Given the description of an element on the screen output the (x, y) to click on. 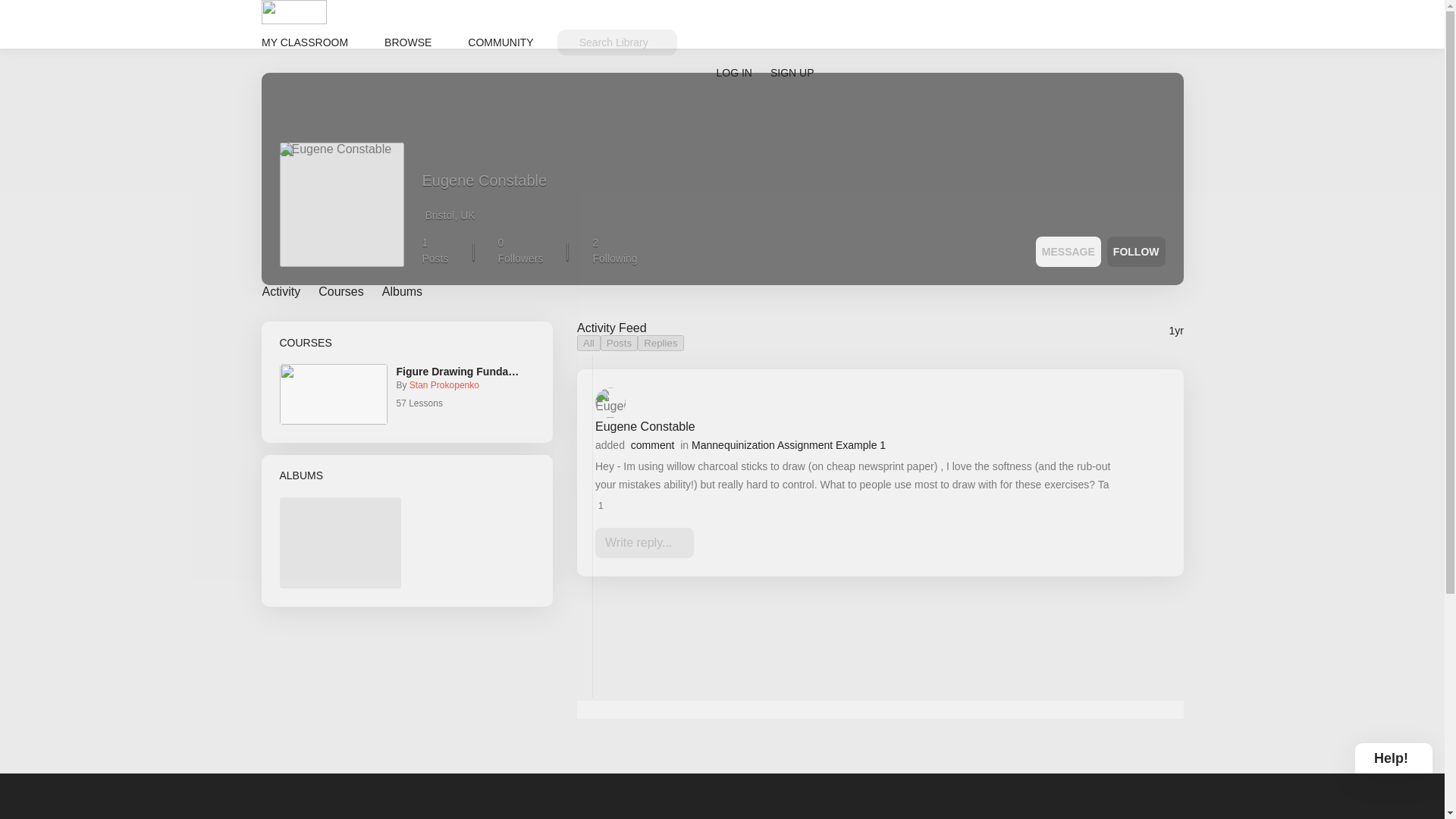
Eugene Constable (341, 204)
MY CLASSROOM (303, 42)
Eugene Constable (484, 186)
LOG IN (733, 72)
BROWSE (407, 42)
FOLLOW (1136, 251)
Eugene Constable (644, 426)
Mannequinization Assignment Example 1 (614, 250)
Stan Prokopenko (861, 444)
